Given the description of an element on the screen output the (x, y) to click on. 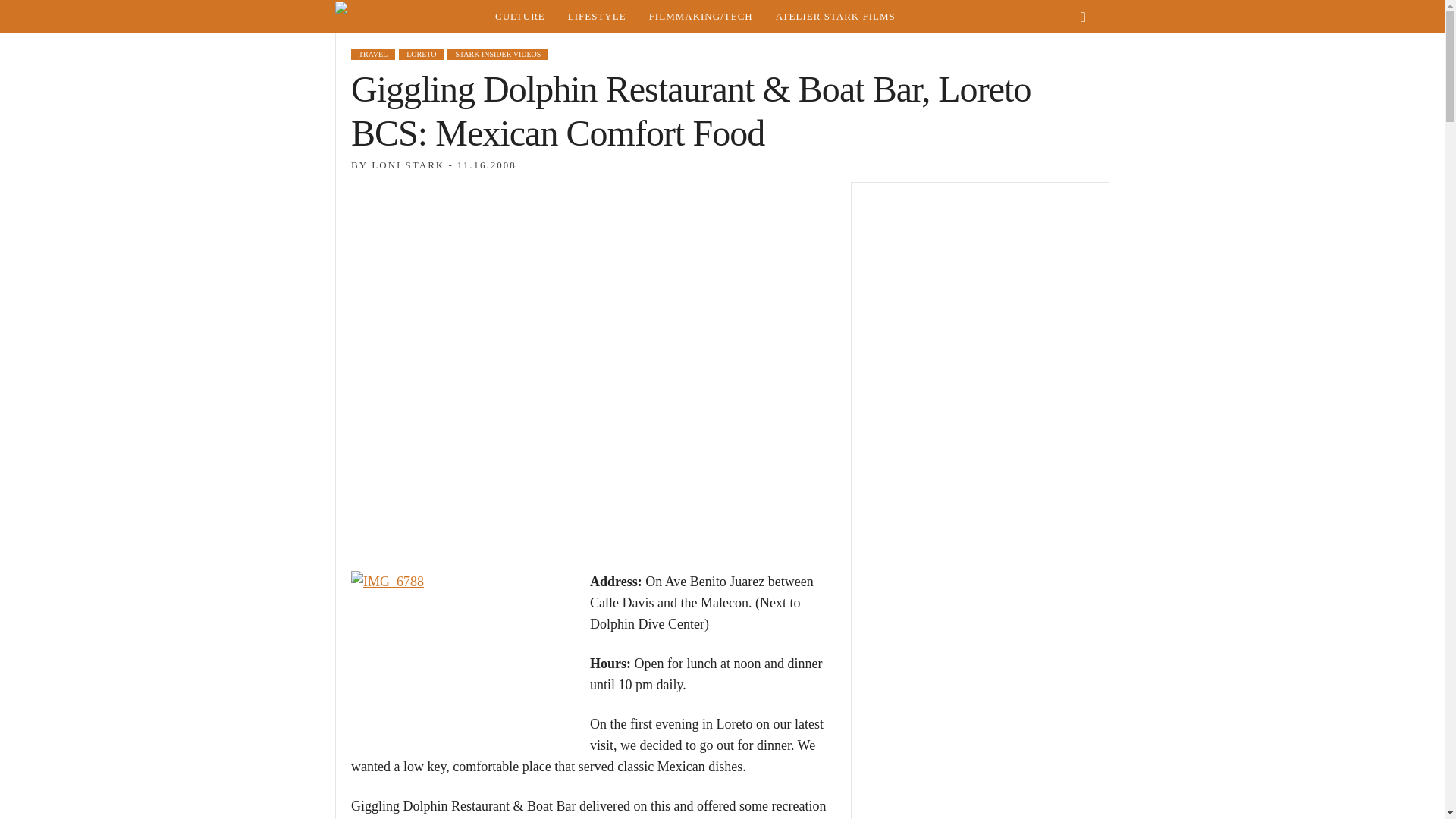
Stark Insider (408, 16)
TRAVEL (372, 54)
LONI STARK (407, 164)
LIFESTYLE (596, 16)
Tech, gadgets, camera news and reviews from Silicon Valley (700, 16)
LORETO (421, 54)
ATELIER STARK FILMS (835, 16)
Indie film, music, arts in San Francisco and Silicon Valley (519, 16)
CULTURE (519, 16)
STARK INSIDER VIDEOS (497, 54)
